Given the description of an element on the screen output the (x, y) to click on. 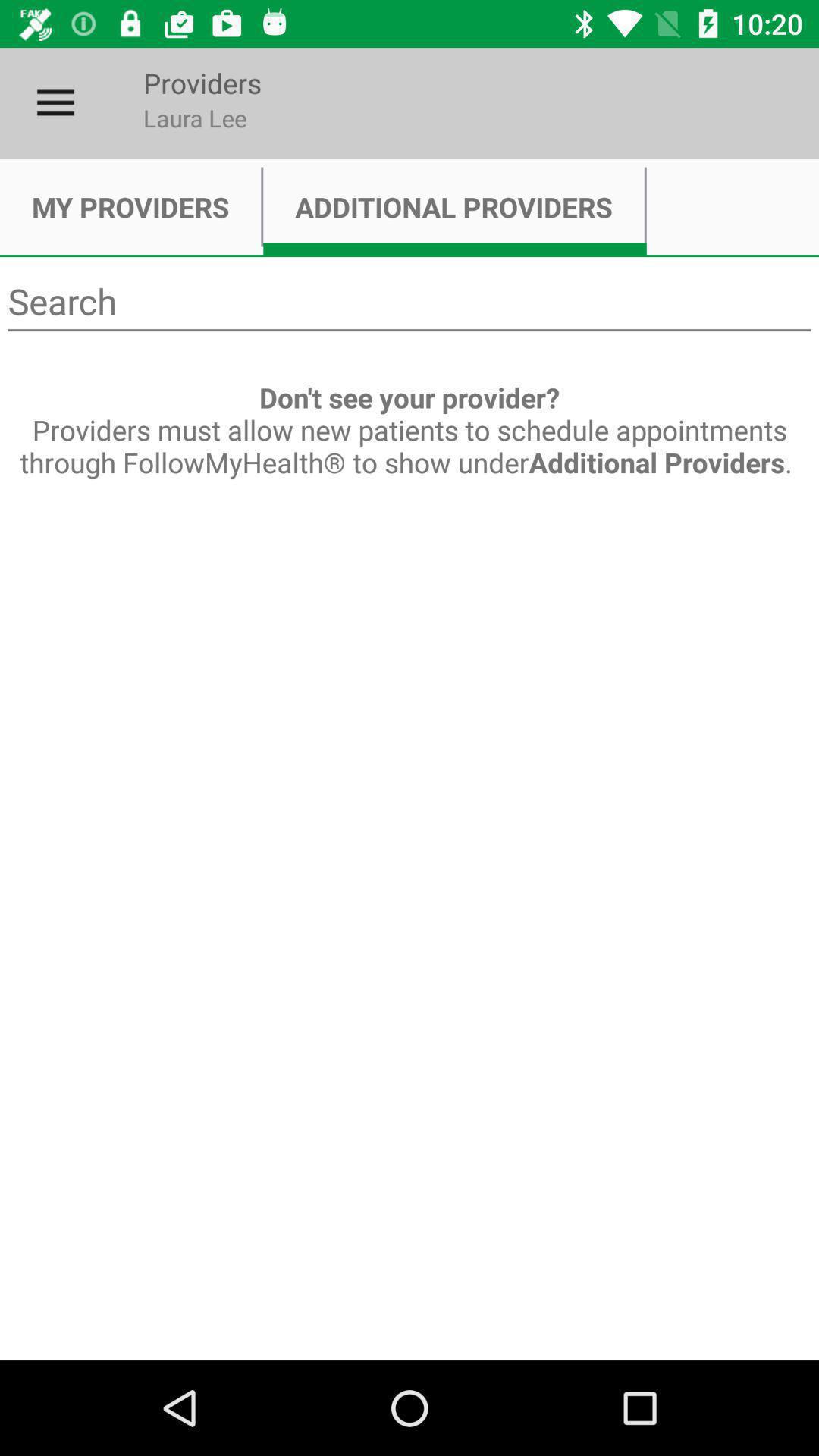
click item above the my providers (55, 103)
